Given the description of an element on the screen output the (x, y) to click on. 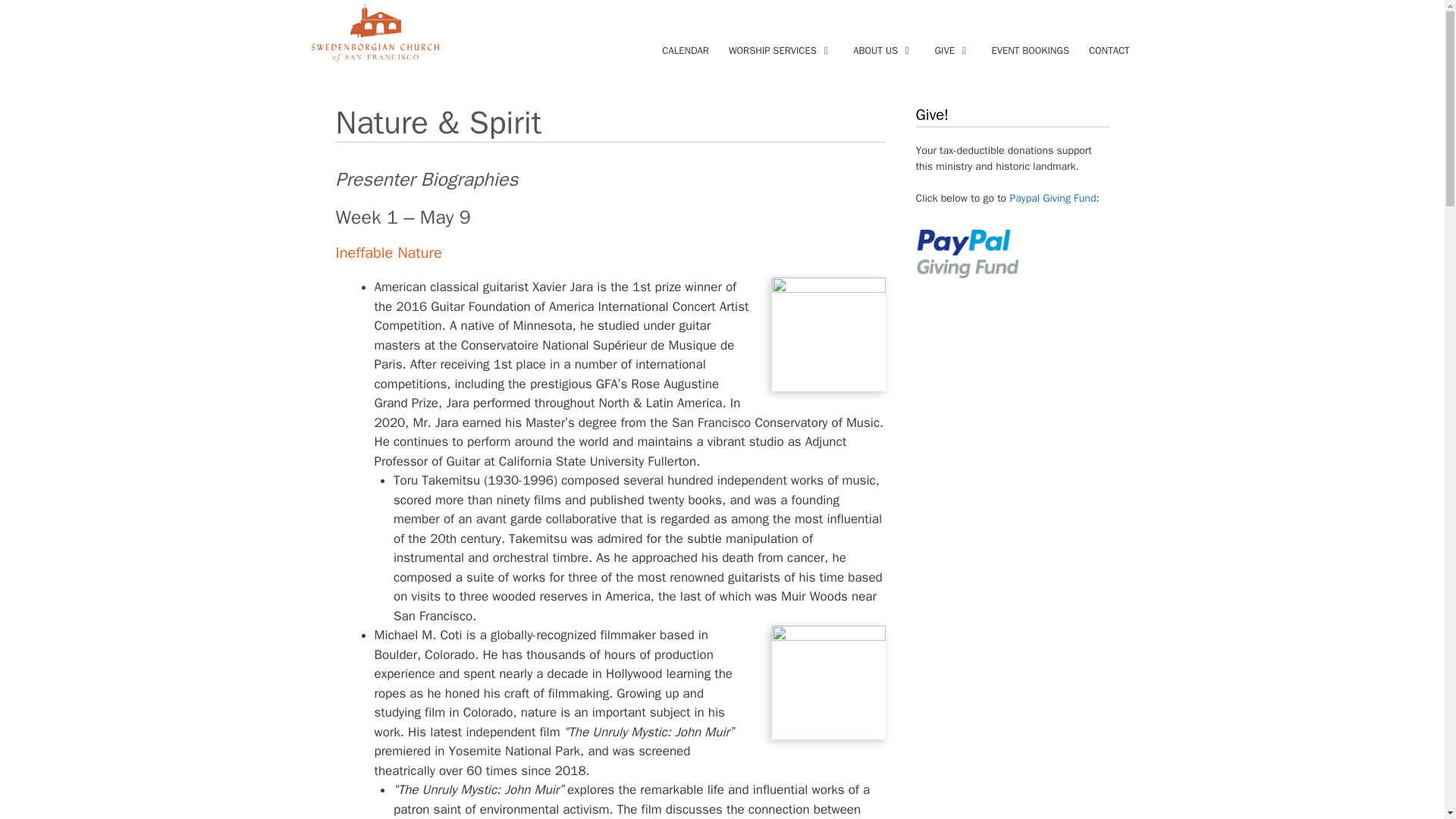
GIVE (952, 50)
WORSHIP SERVICES (781, 50)
CALENDAR (685, 50)
EVENT BOOKINGS (1029, 50)
CONTACT (1109, 50)
ABOUT US (883, 50)
